Given the description of an element on the screen output the (x, y) to click on. 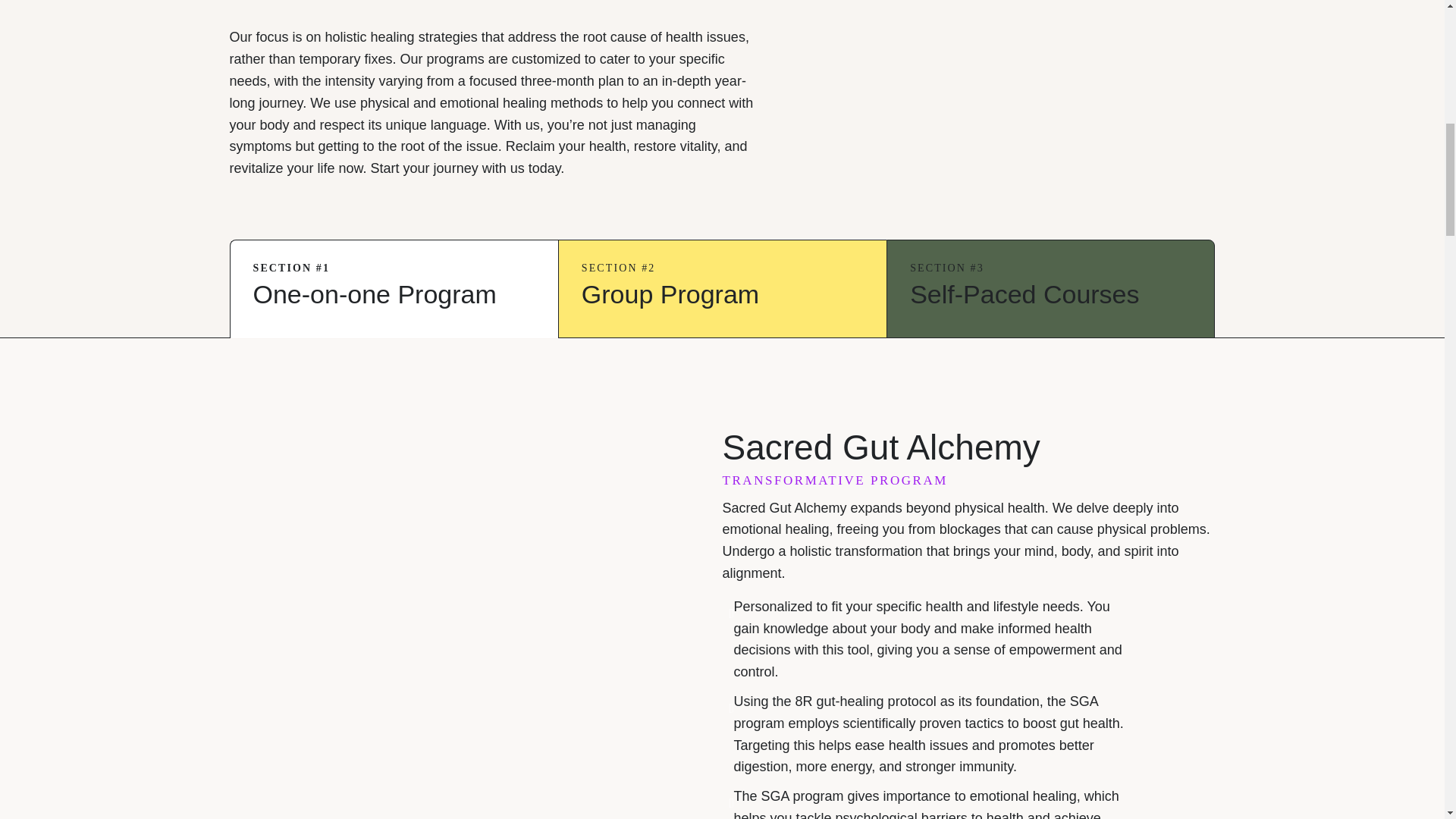
Sacred Gut Alchemy (445, 574)
